Given the description of an element on the screen output the (x, y) to click on. 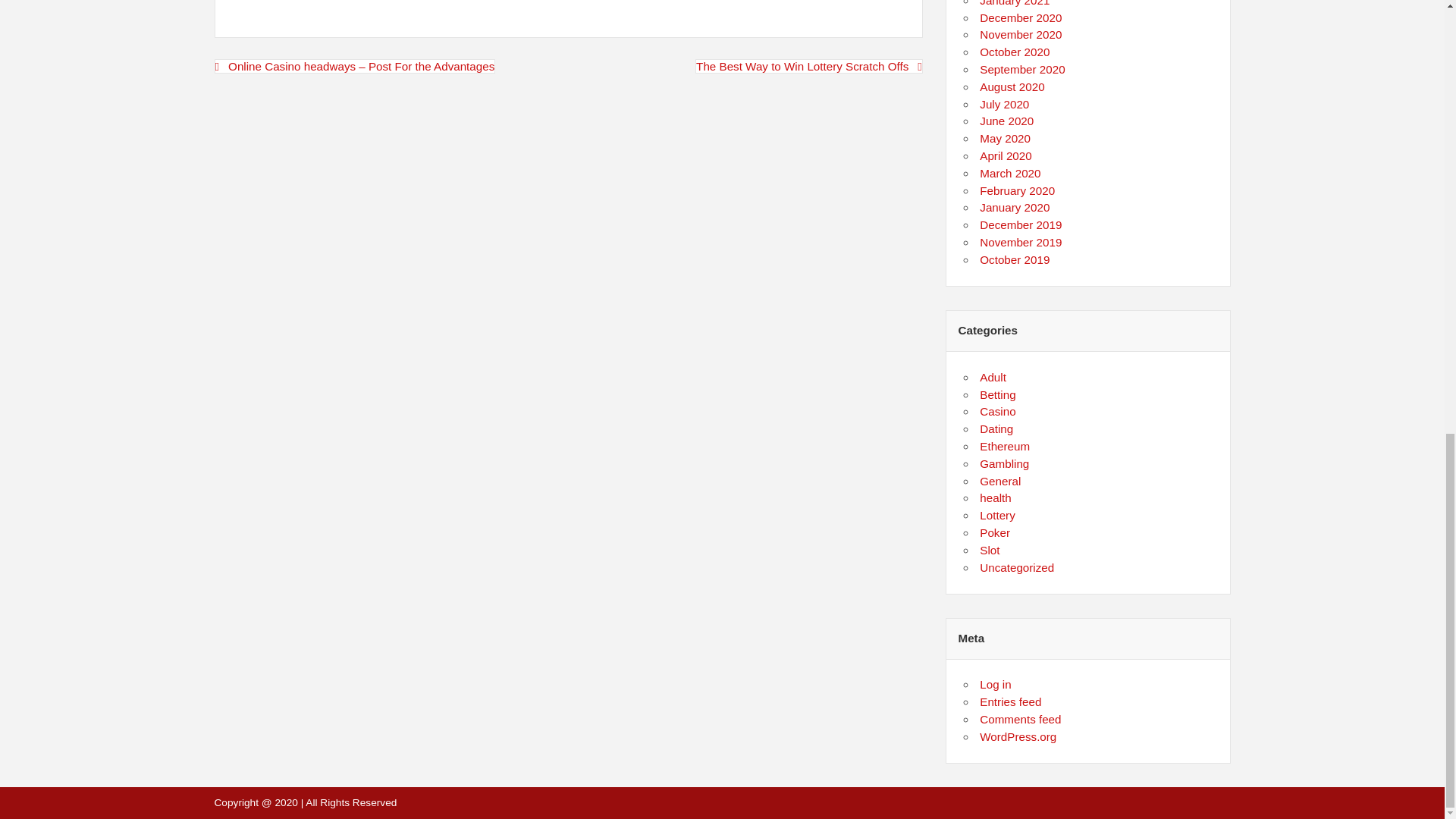
The Best Way to Win Lottery Scratch Offs (809, 65)
